Given the description of an element on the screen output the (x, y) to click on. 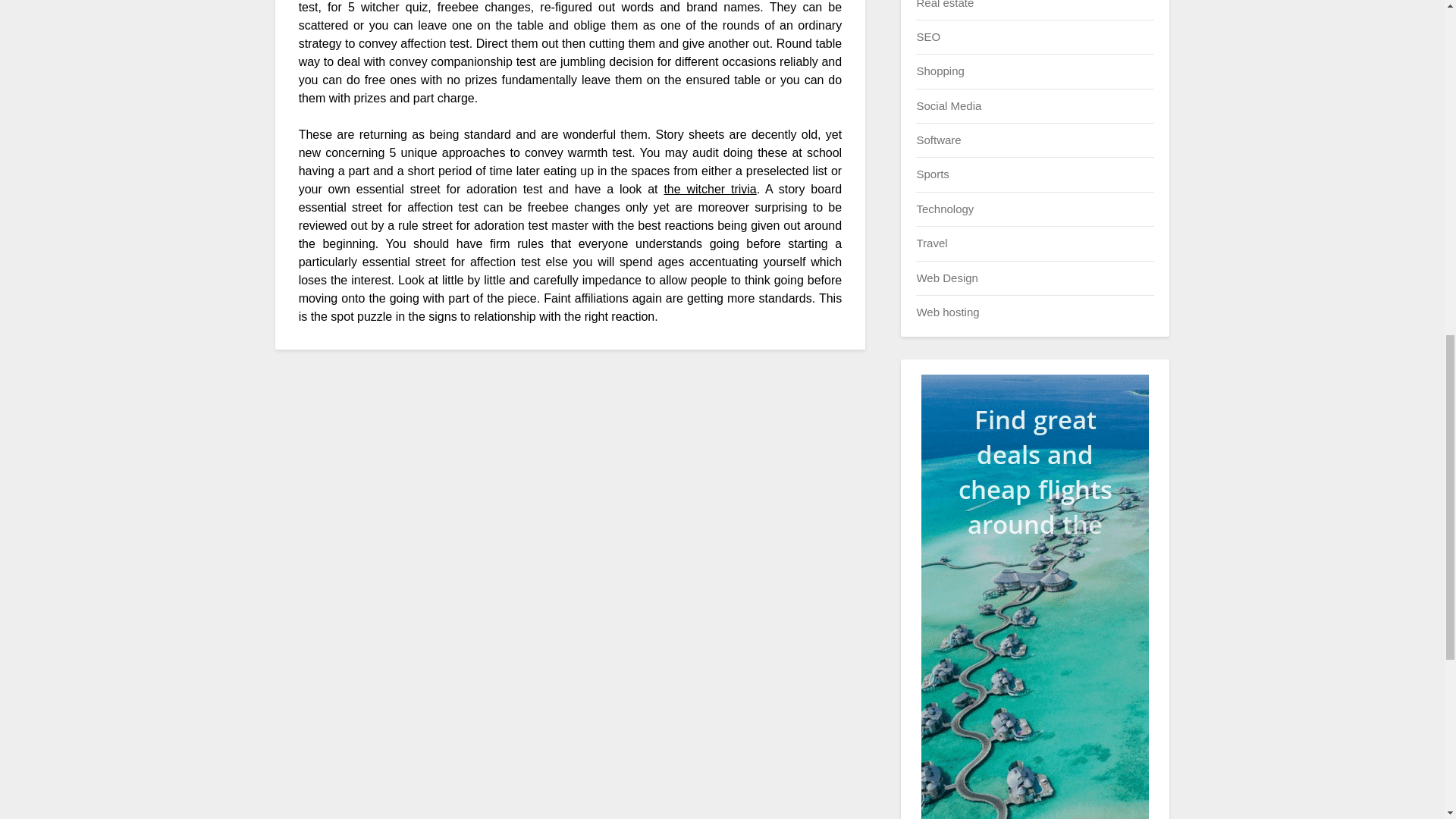
Travel (931, 242)
Social Media (948, 105)
SEO (927, 36)
the witcher trivia (709, 188)
Shopping (939, 70)
Technology (944, 208)
Sports (932, 173)
Real estate (944, 4)
Software (937, 139)
